Given the description of an element on the screen output the (x, y) to click on. 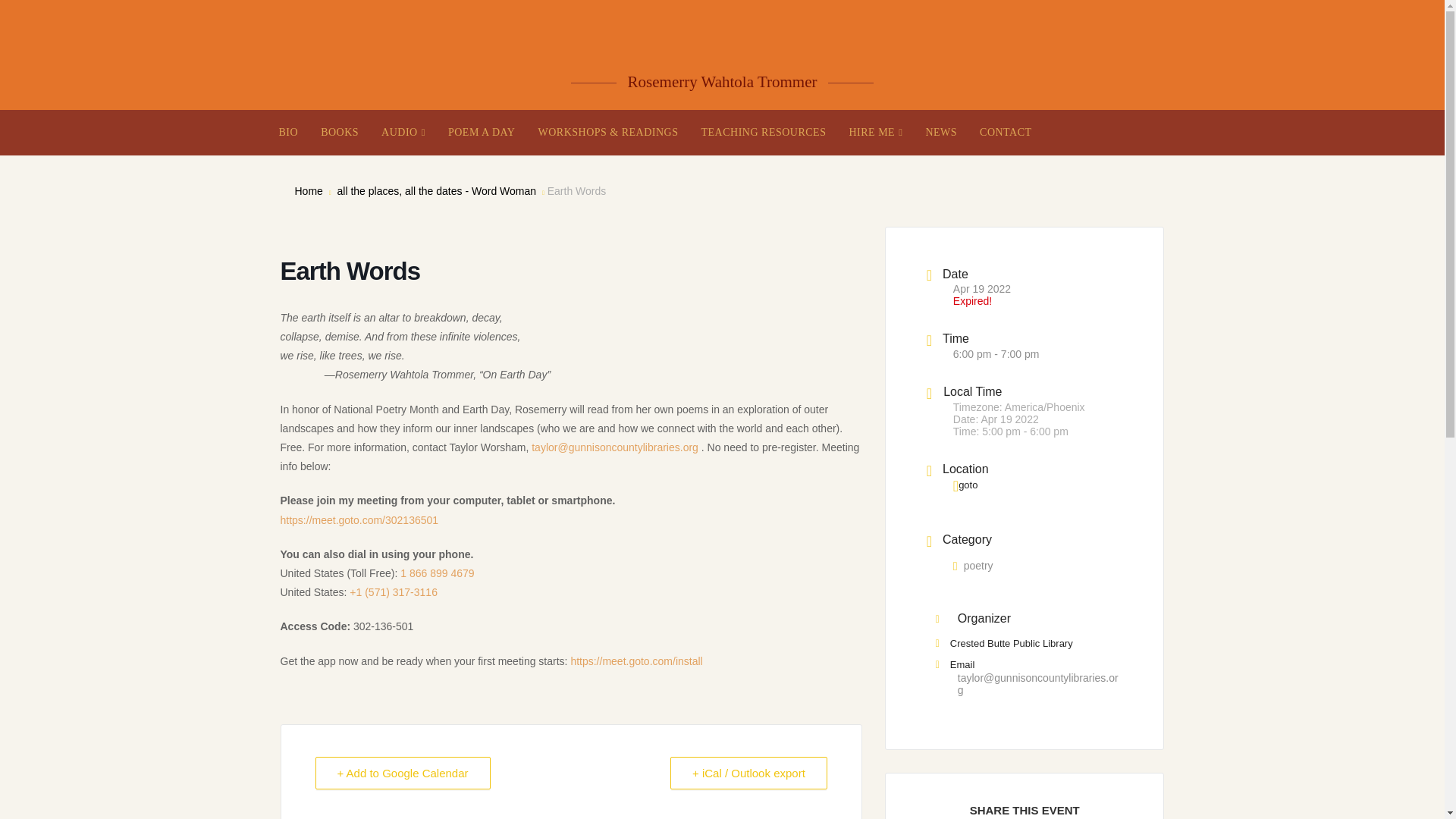
POEM A DAY (481, 132)
poetry (972, 565)
HIRE ME (875, 132)
Home (307, 191)
TEACHING RESOURCES (762, 132)
CONTACT (1005, 132)
1 866 899 4679 (437, 573)
AUDIO (403, 132)
all the places, all the dates - Word Woman (435, 191)
